Given the description of an element on the screen output the (x, y) to click on. 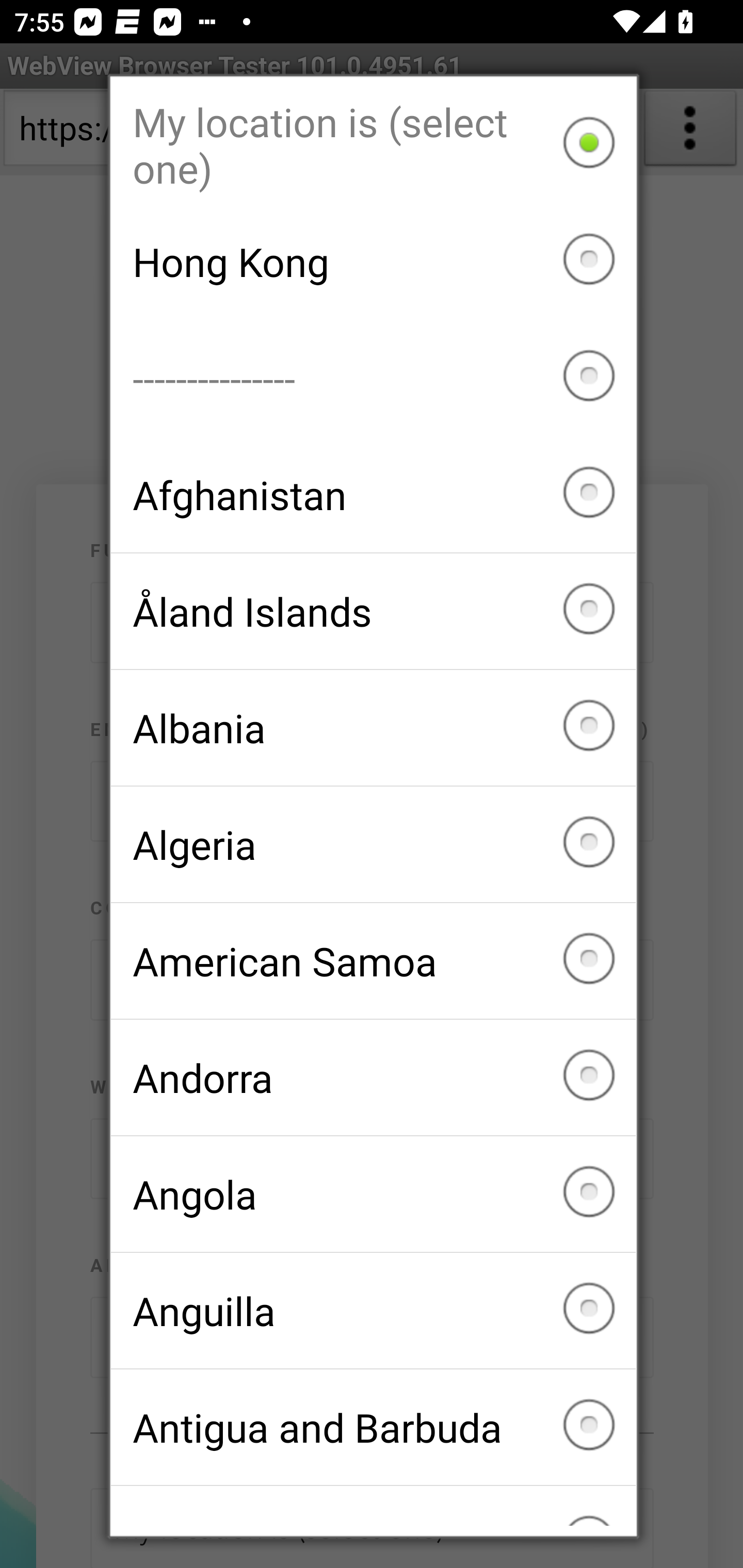
Hong Kong (373, 261)
Afghanistan (373, 494)
Åland Islands (373, 611)
Albania (373, 727)
Algeria (373, 844)
American Samoa (373, 961)
Andorra (373, 1077)
Angola (373, 1193)
Anguilla (373, 1310)
Antigua and Barbuda (373, 1426)
